Given the description of an element on the screen output the (x, y) to click on. 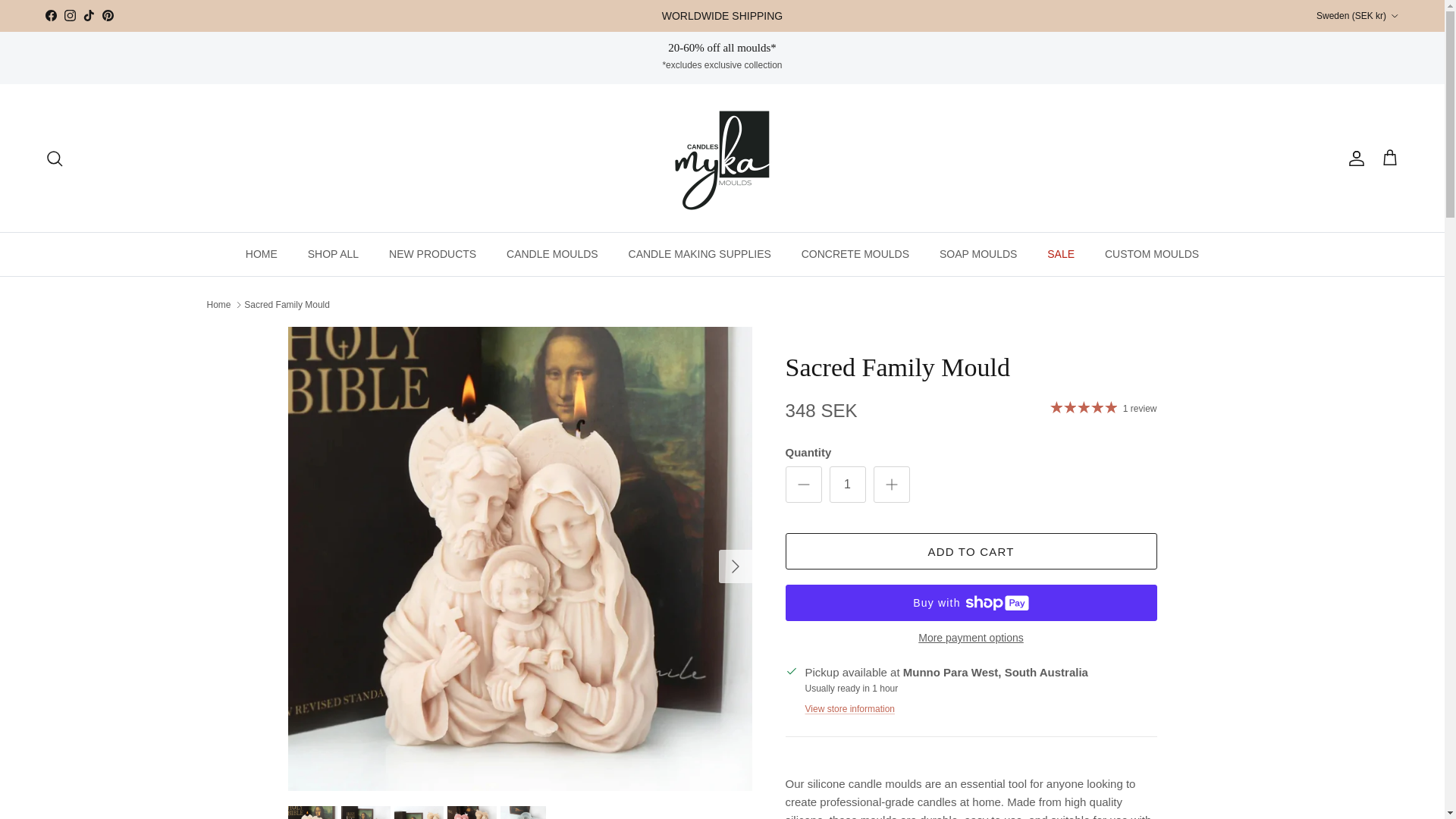
Instagram (69, 15)
CANDLE MOULDS (552, 254)
Search (54, 158)
Account (1352, 158)
Cart (1389, 158)
HOME (261, 254)
Facebook (50, 15)
Pinterest (107, 15)
NEW PRODUCTS (432, 254)
SHOP ALL (333, 254)
TikTok (88, 15)
1 (847, 484)
